Given the description of an element on the screen output the (x, y) to click on. 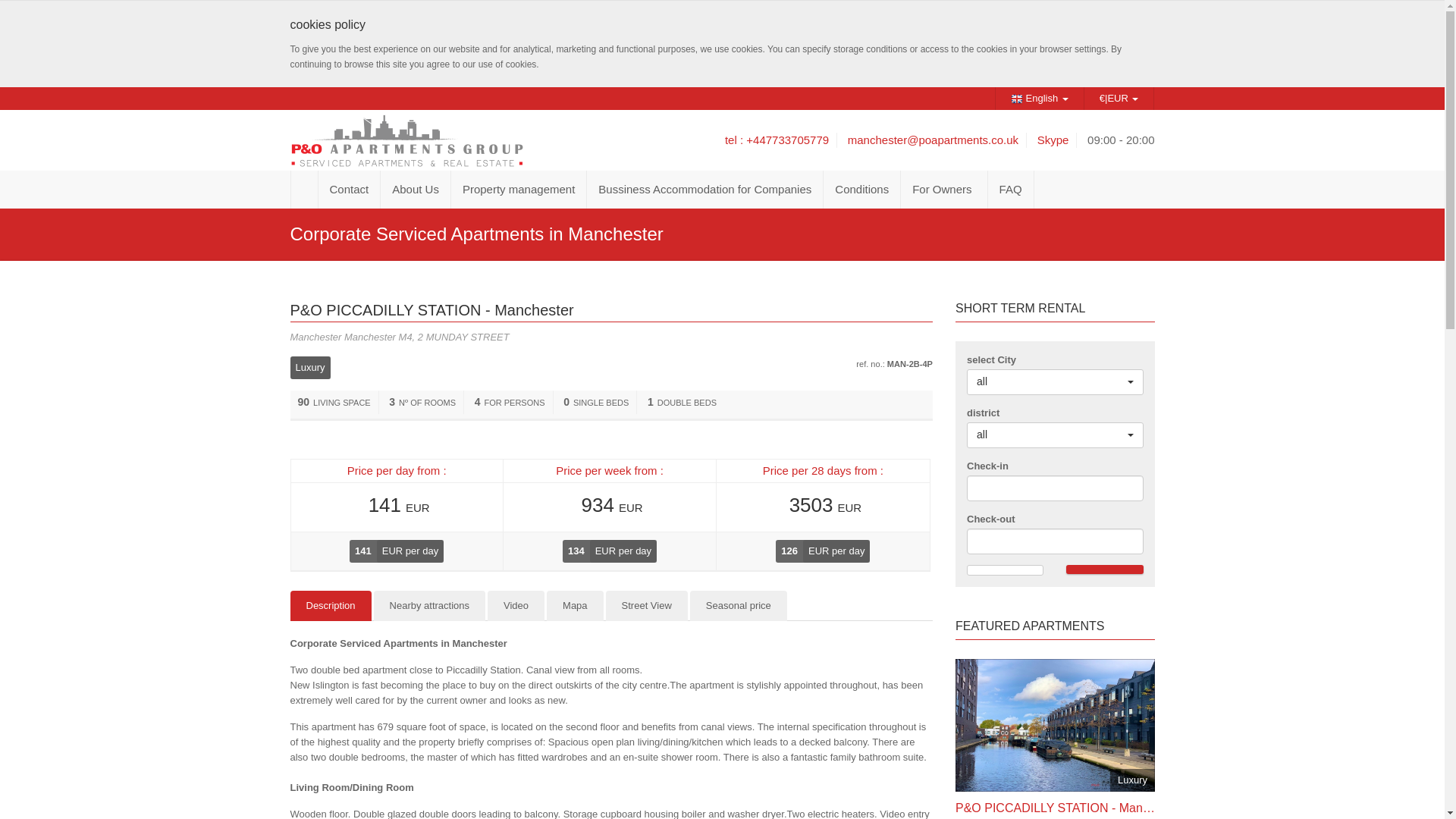
Skype (1052, 139)
Contact (349, 189)
For Owners (944, 189)
all (1054, 381)
About Us (415, 189)
English (1039, 97)
all (1054, 434)
FAQ (1010, 189)
Property management (518, 189)
Bussiness Accommodation for Companies (705, 189)
